Given the description of an element on the screen output the (x, y) to click on. 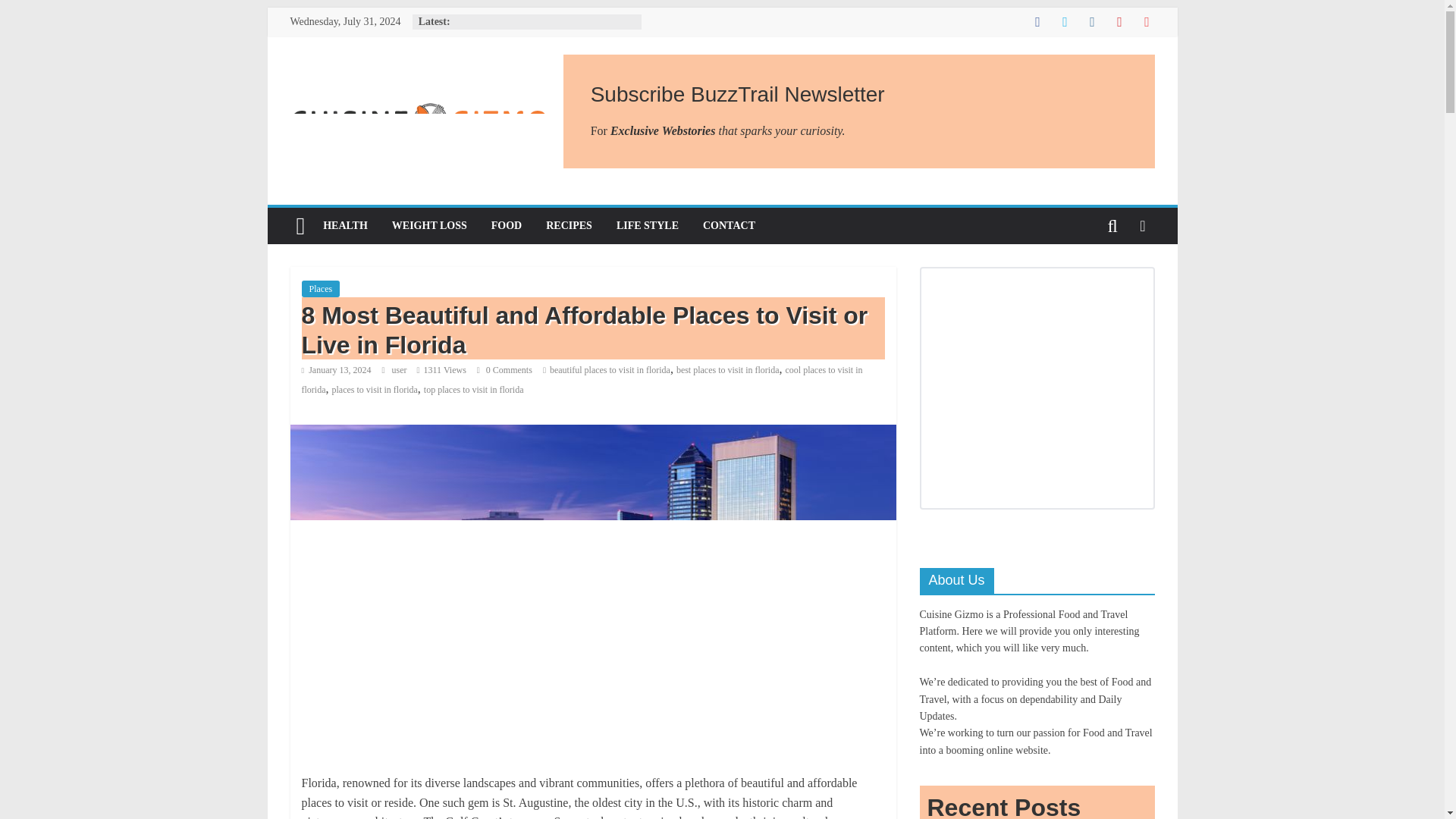
HEALTH (345, 226)
RECIPES (569, 226)
0 Comments (504, 369)
January 13, 2024 (336, 369)
CONTACT (728, 226)
beautiful places to visit in florida (609, 369)
top places to visit in florida (473, 389)
LIFE STYLE (647, 226)
user (400, 369)
cool places to visit in florida (582, 379)
best places to visit in florida (727, 369)
WEIGHT LOSS (429, 226)
user (400, 369)
10:44 pm (336, 369)
